Given the description of an element on the screen output the (x, y) to click on. 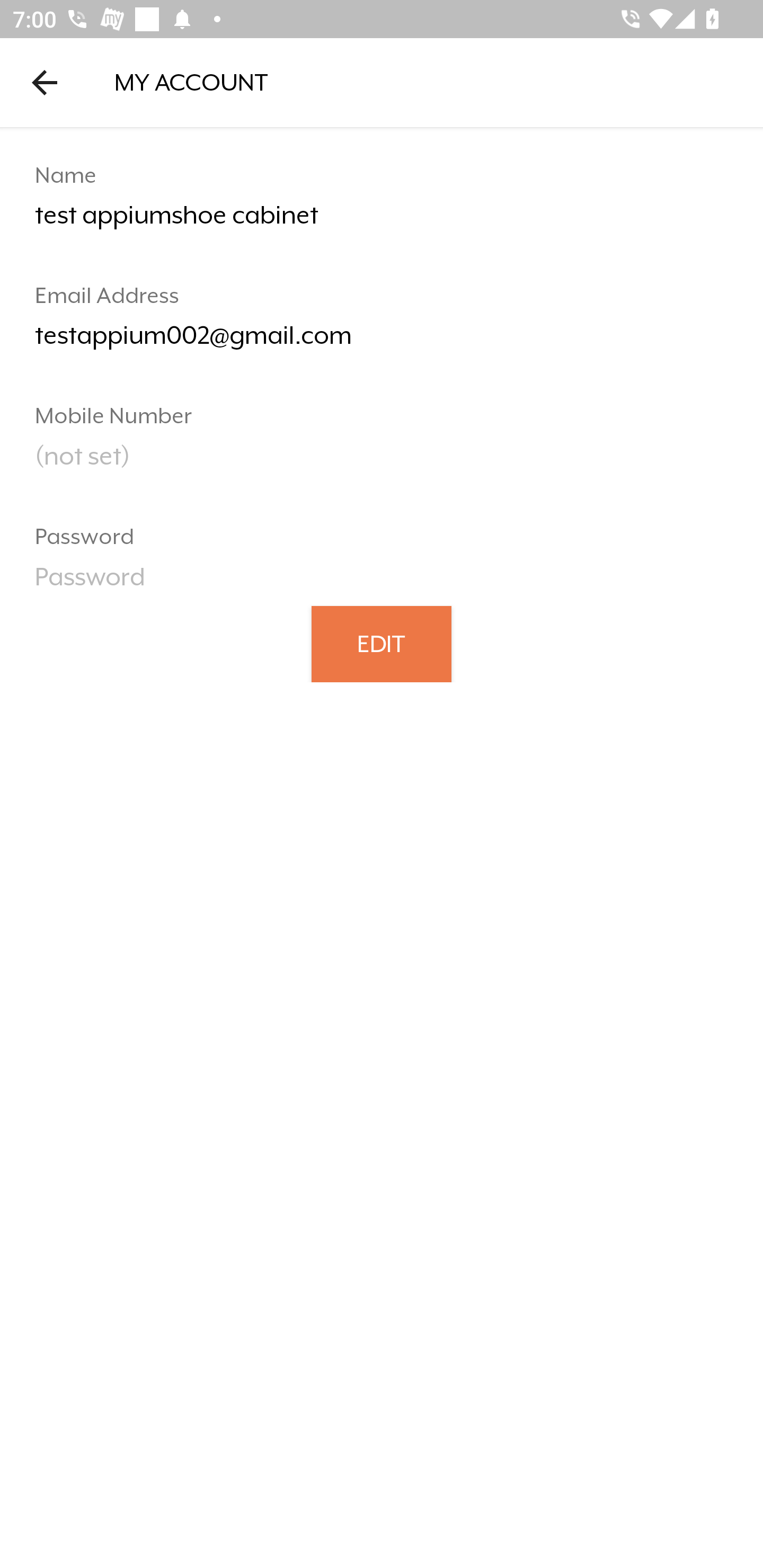
Navigate up (44, 82)
test appiumshoe cabinet (381, 222)
testappium002@gmail.com (381, 342)
Password (381, 583)
EDIT (381, 643)
